Given the description of an element on the screen output the (x, y) to click on. 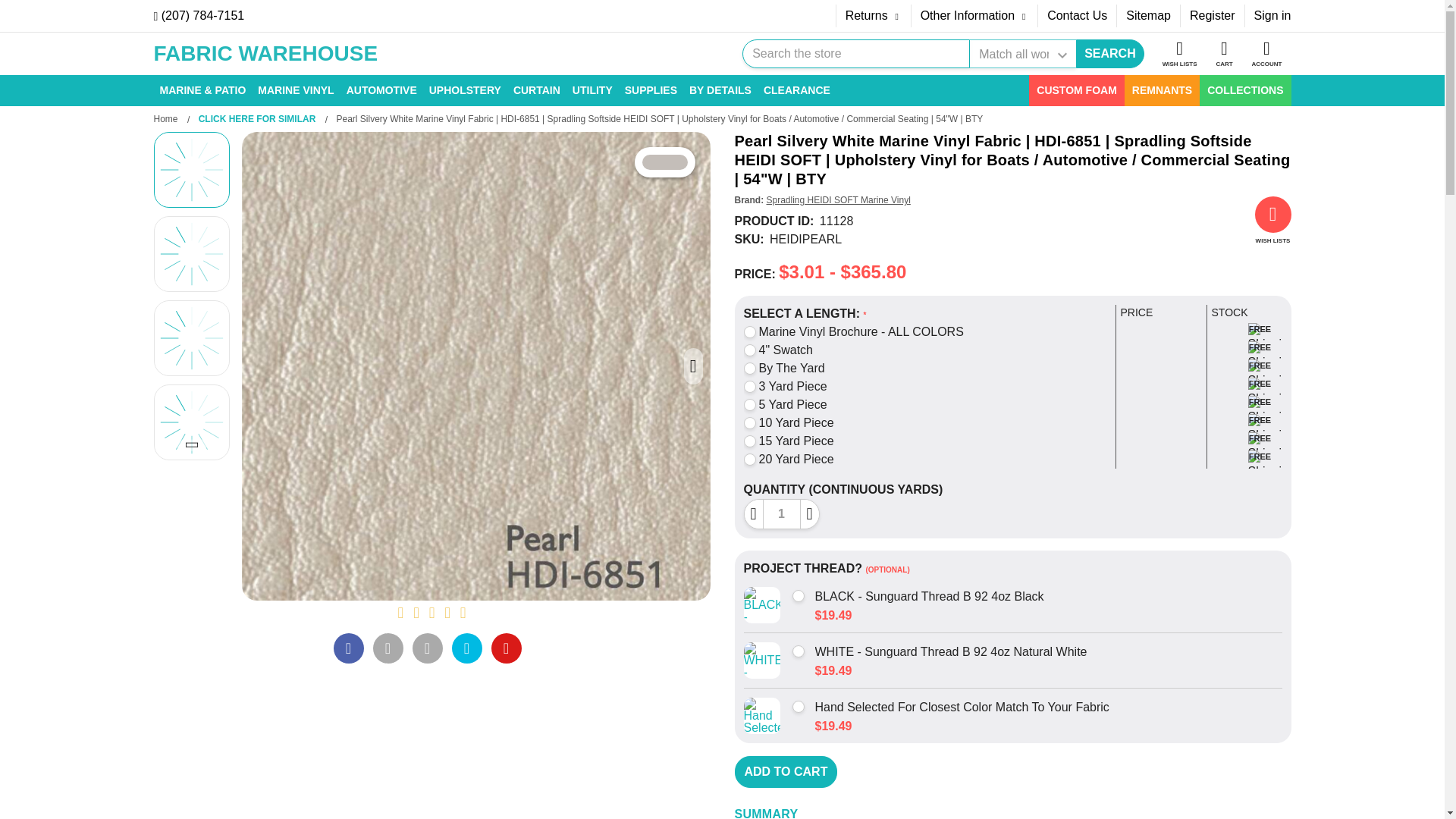
FABRIC WAREHOUSE (264, 54)
Twitter (466, 648)
Contact Us (1077, 15)
1 (780, 513)
WISH LISTS (1180, 53)
Returns (873, 15)
